Given the description of an element on the screen output the (x, y) to click on. 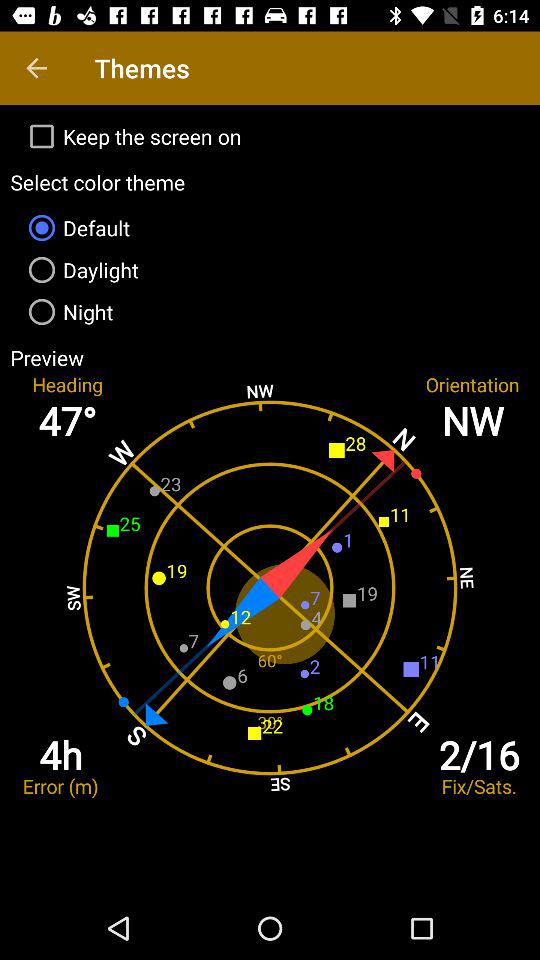
press item above the preview item (270, 311)
